Given the description of an element on the screen output the (x, y) to click on. 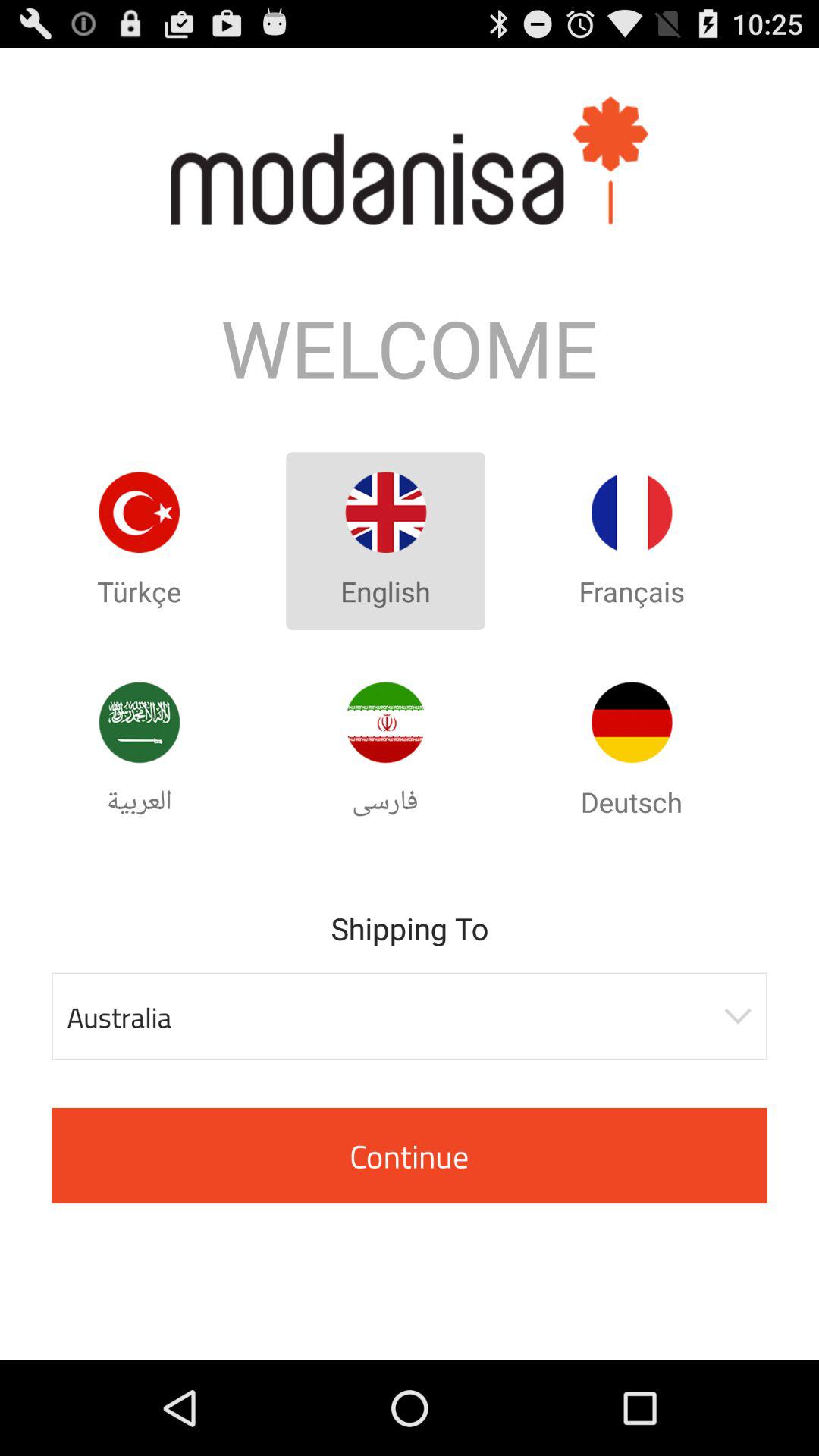
select german (631, 722)
